Given the description of an element on the screen output the (x, y) to click on. 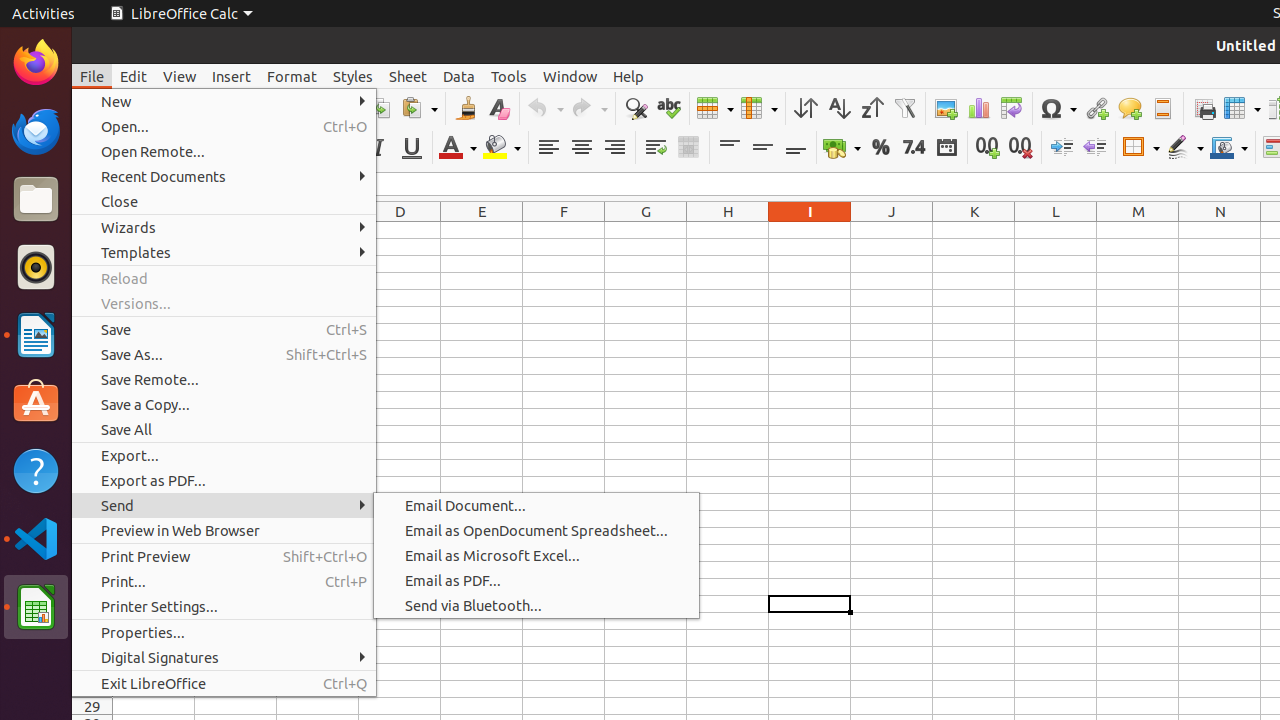
Align Right Element type: push-button (614, 147)
AutoFilter Element type: push-button (904, 108)
Align Top Element type: push-button (729, 147)
Email as OpenDocument Spreadsheet... Element type: menu-item (536, 530)
Exit LibreOffice Element type: menu-item (224, 683)
